Given the description of an element on the screen output the (x, y) to click on. 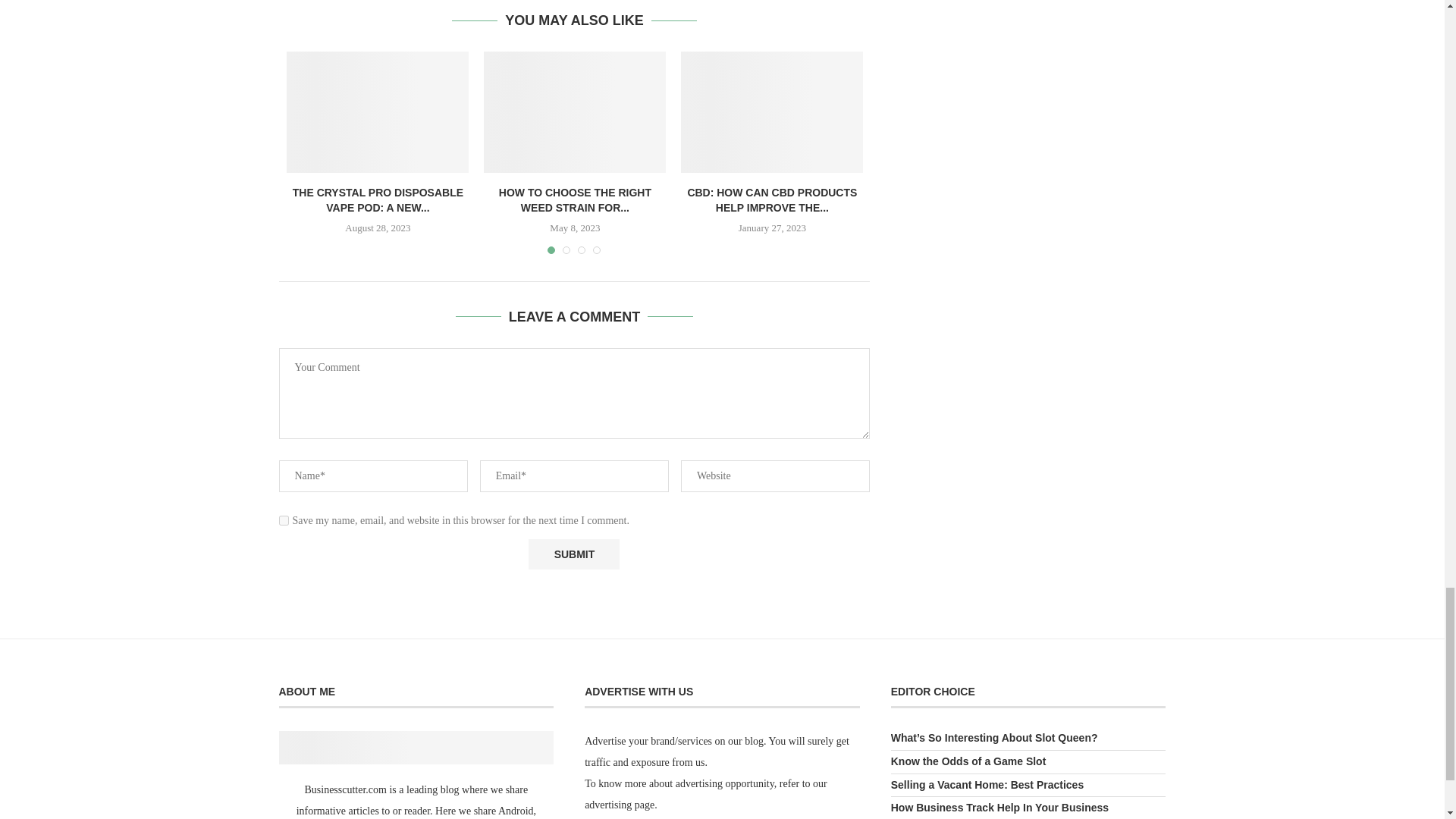
How to Choose the Right Weed Strain for You? (574, 111)
yes (283, 520)
Submit (574, 553)
